Given the description of an element on the screen output the (x, y) to click on. 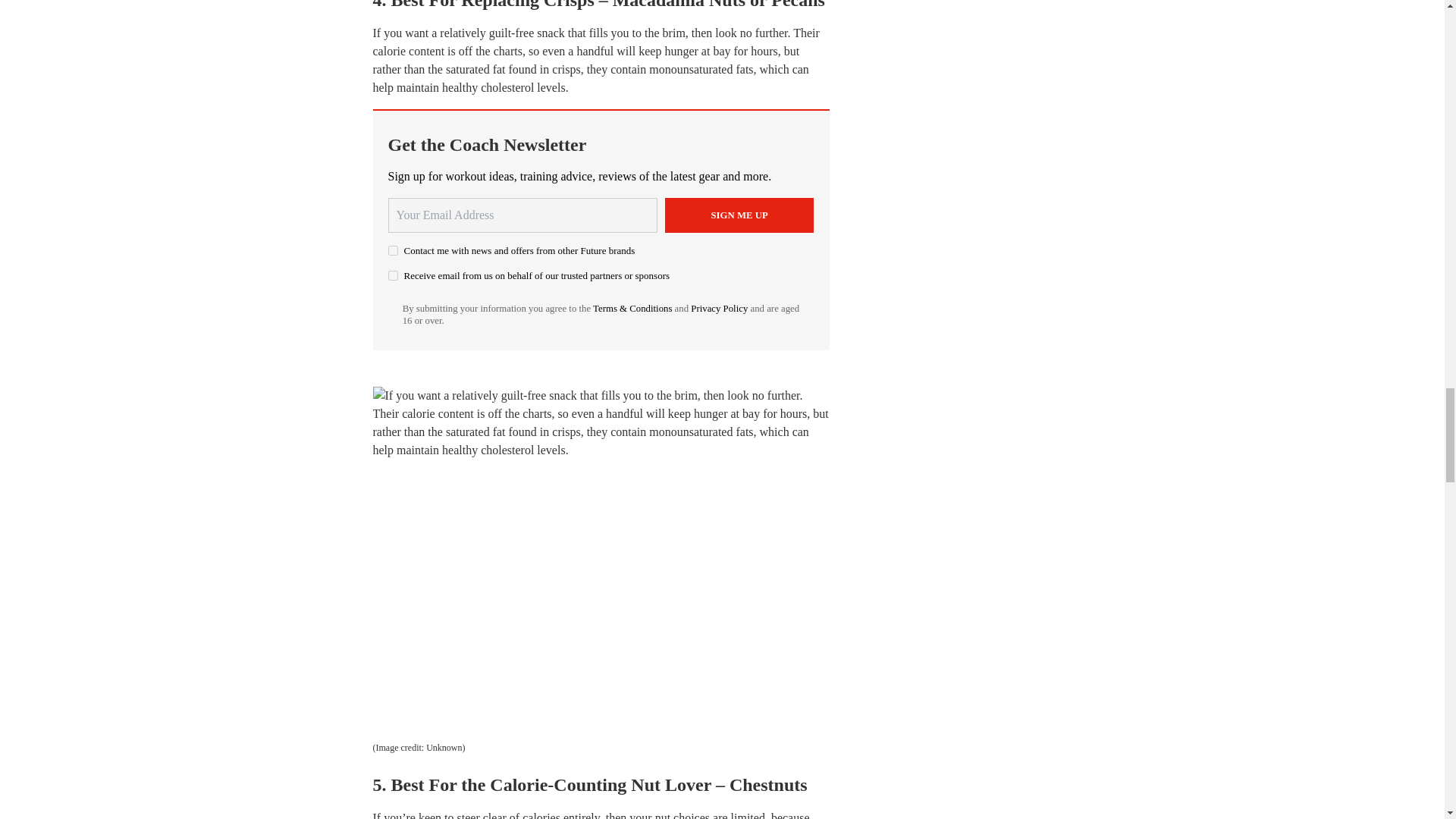
Sign me up (739, 215)
on (392, 250)
on (392, 275)
Privacy Policy (719, 308)
Sign me up (739, 215)
